Given the description of an element on the screen output the (x, y) to click on. 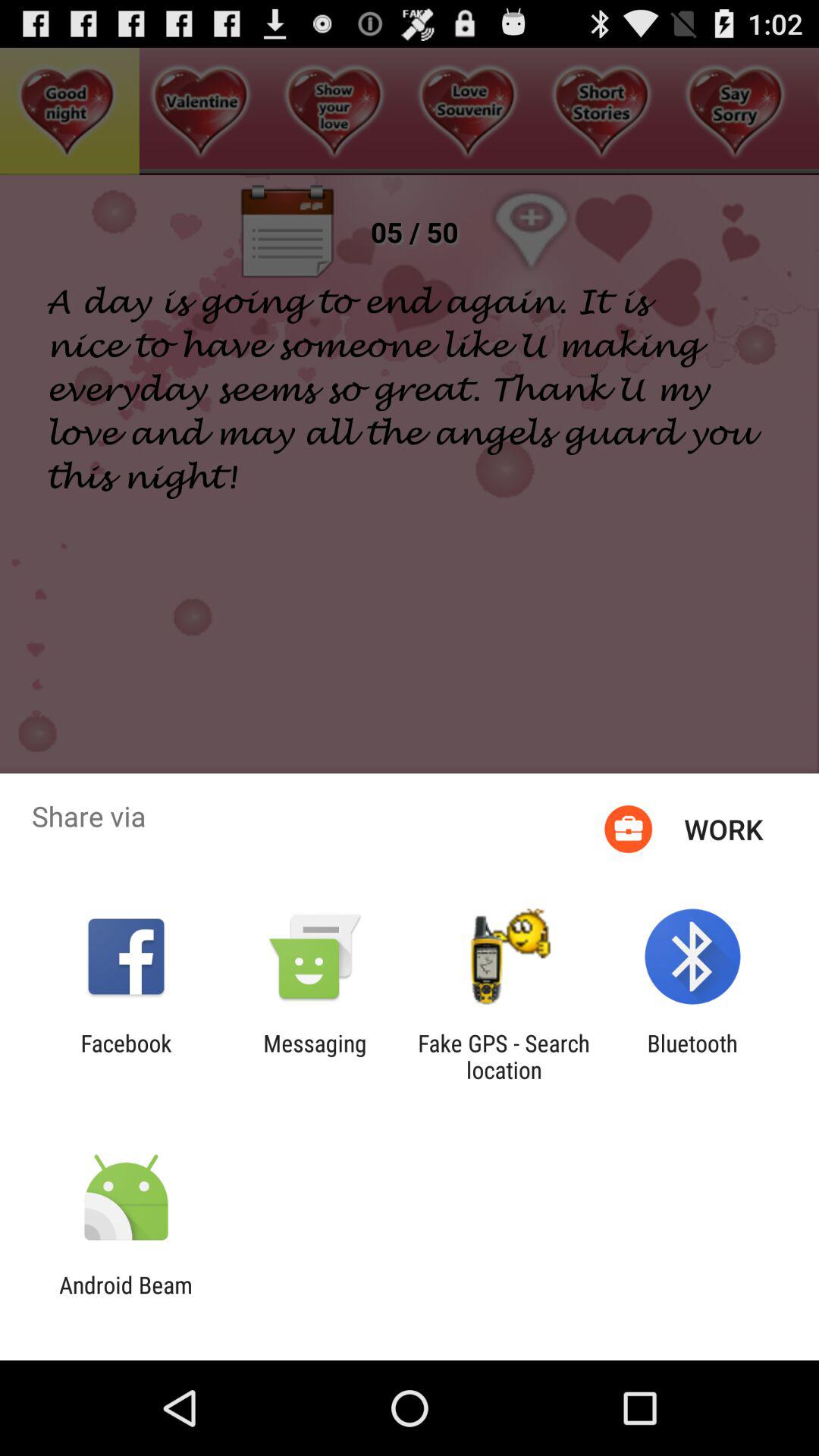
swipe until the facebook item (125, 1056)
